Given the description of an element on the screen output the (x, y) to click on. 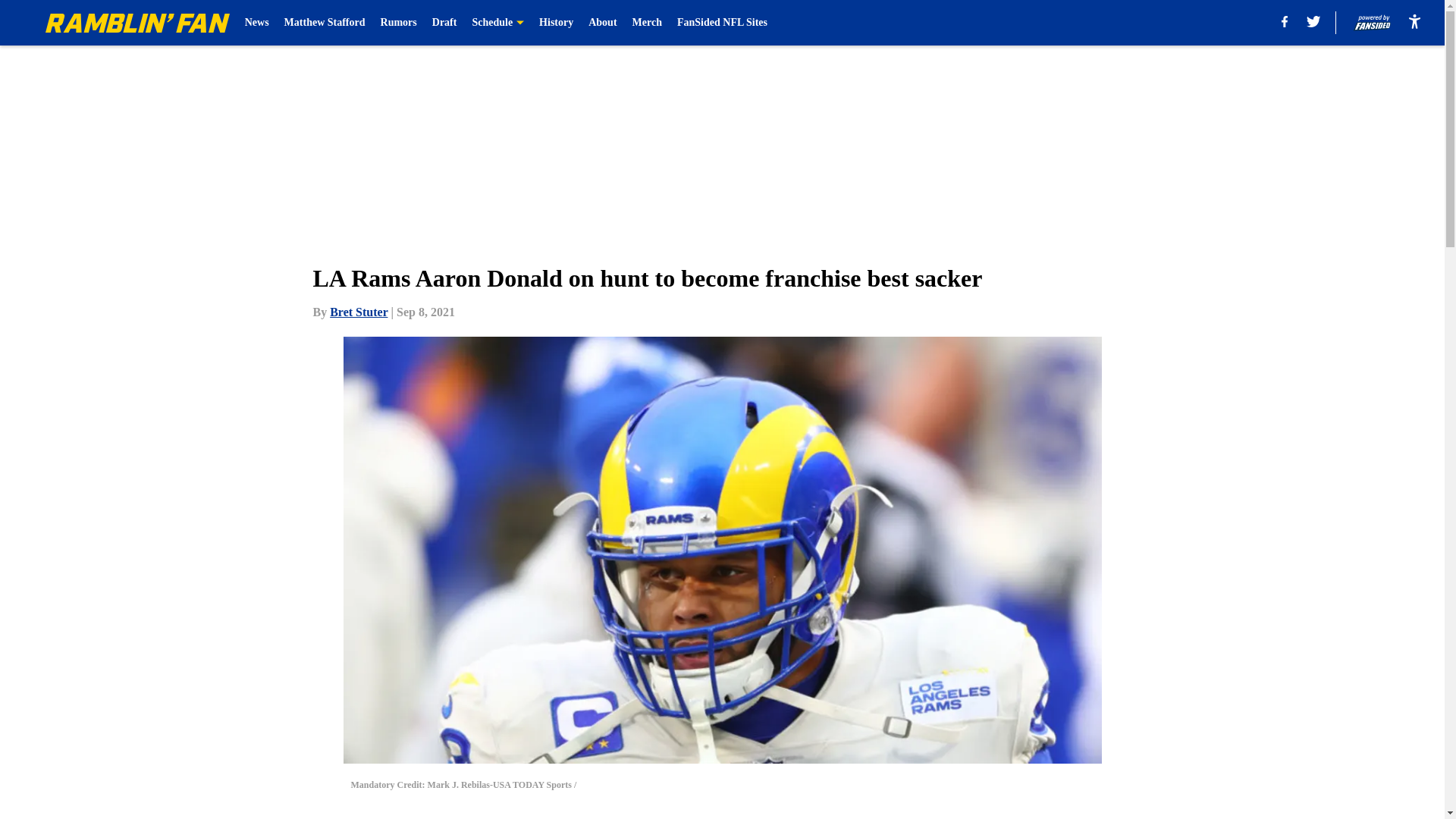
Draft (444, 22)
Matthew Stafford (324, 22)
About (601, 22)
FanSided NFL Sites (722, 22)
News (256, 22)
Merch (646, 22)
Bret Stuter (358, 311)
Rumors (398, 22)
History (555, 22)
